Given the description of an element on the screen output the (x, y) to click on. 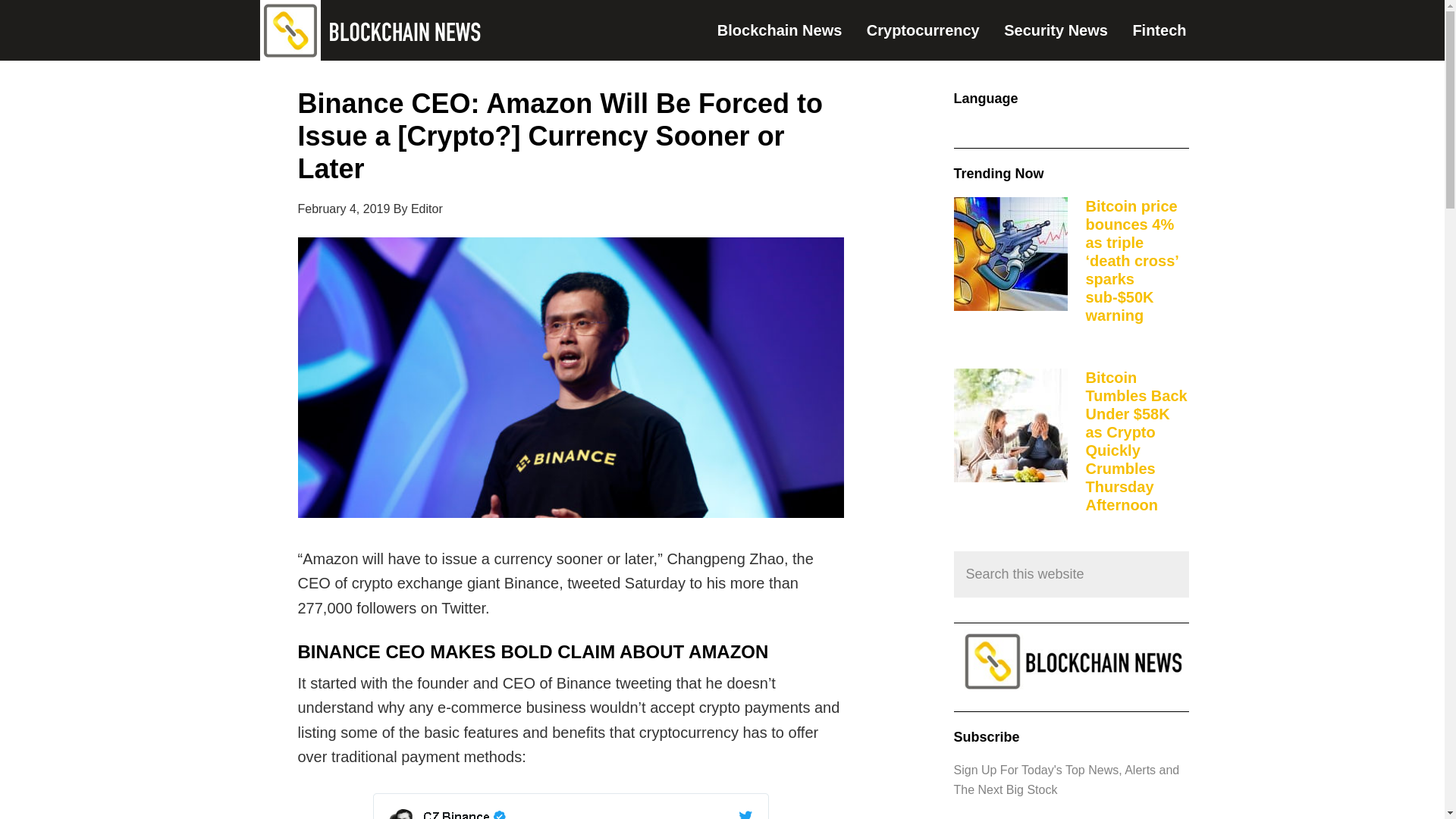
Blockchain News Group (372, 30)
Blockchain News (790, 30)
Security News (1066, 30)
Cryptocurrency (933, 30)
Fintech (1169, 30)
